Given the description of an element on the screen output the (x, y) to click on. 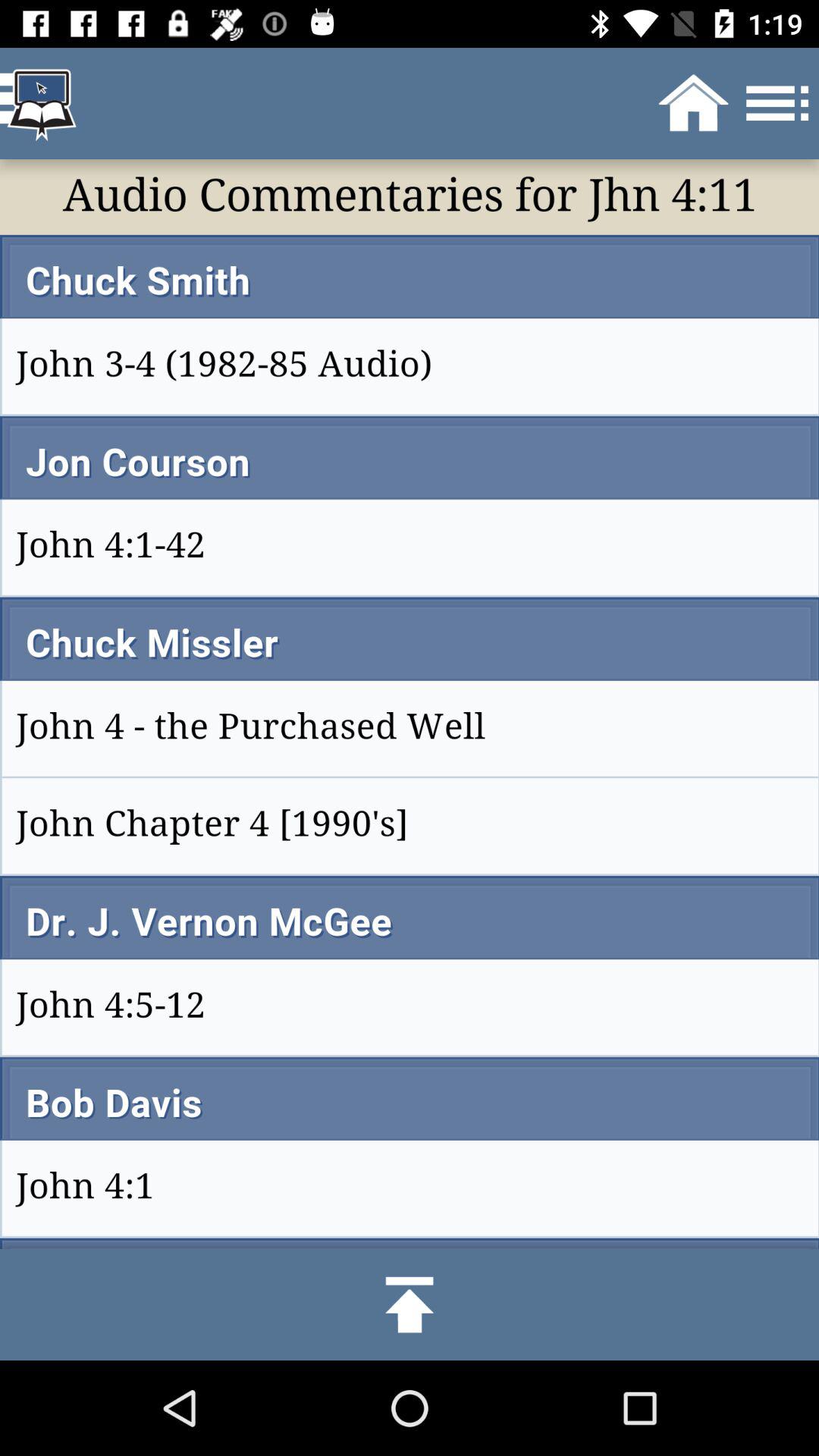
to download (409, 1304)
